Given the description of an element on the screen output the (x, y) to click on. 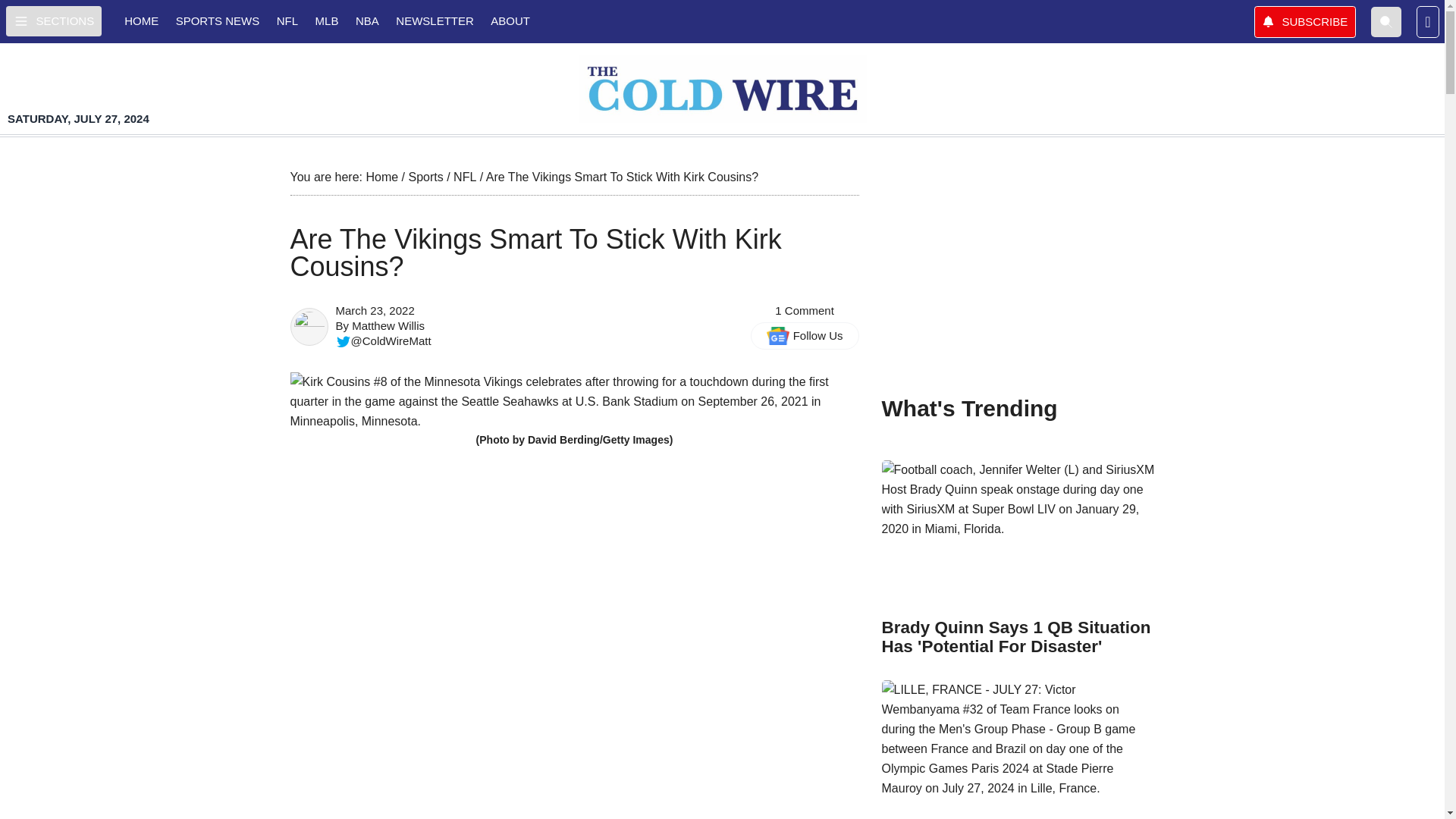
Search (1385, 20)
Open Menu (53, 20)
